Given the description of an element on the screen output the (x, y) to click on. 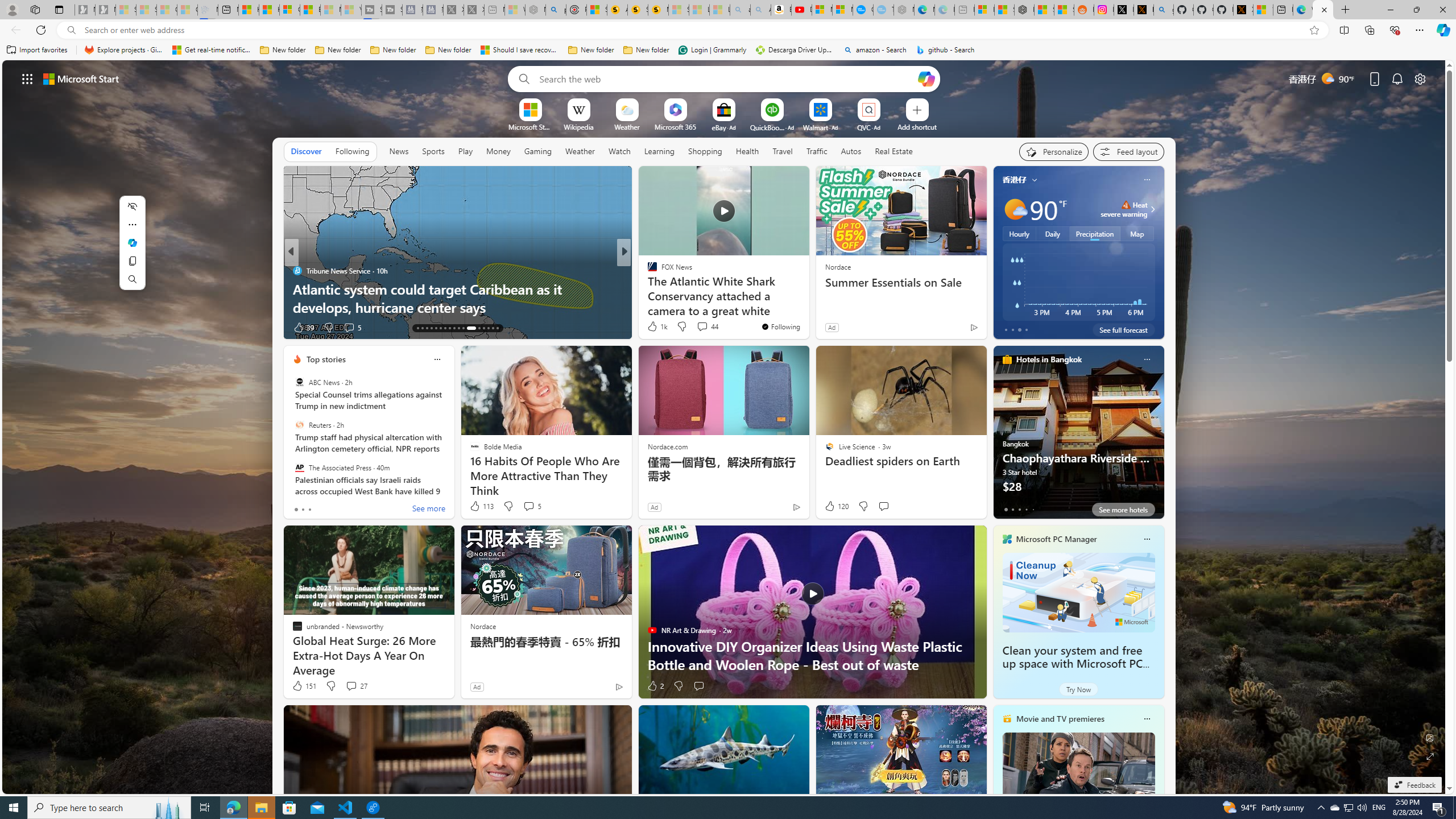
AutomationID: tab-24 (467, 328)
Wildlife - MSN - Sleeping (514, 9)
View comments 4 Comment (351, 327)
New folder (646, 49)
Shopping (705, 151)
Shanghai, China Weather trends | Microsoft Weather (1063, 9)
AutomationID: tab-17 (435, 328)
Microsoft PC Manager (1056, 538)
